Given the description of an element on the screen output the (x, y) to click on. 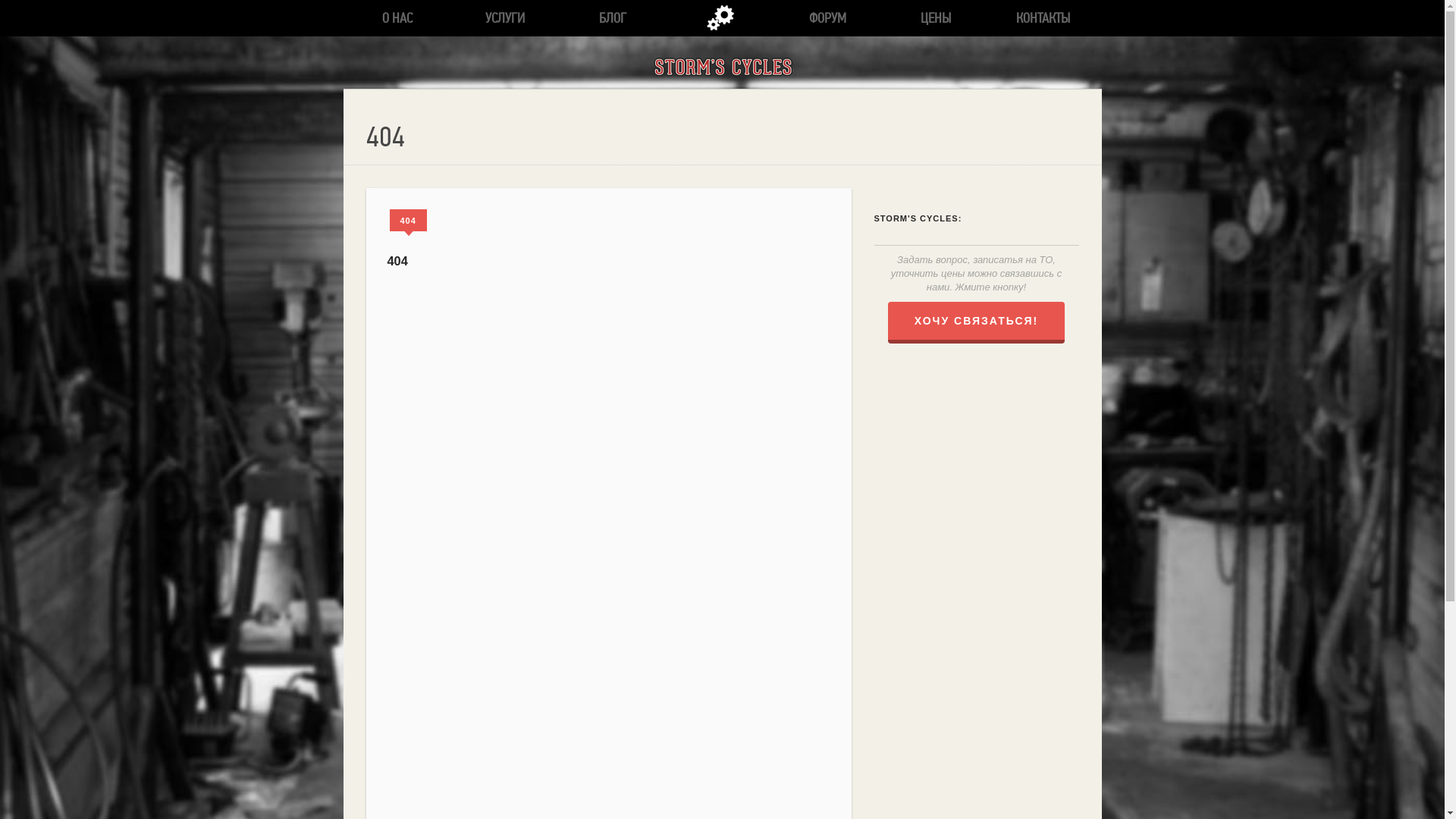
404 Element type: text (407, 220)
